Given the description of an element on the screen output the (x, y) to click on. 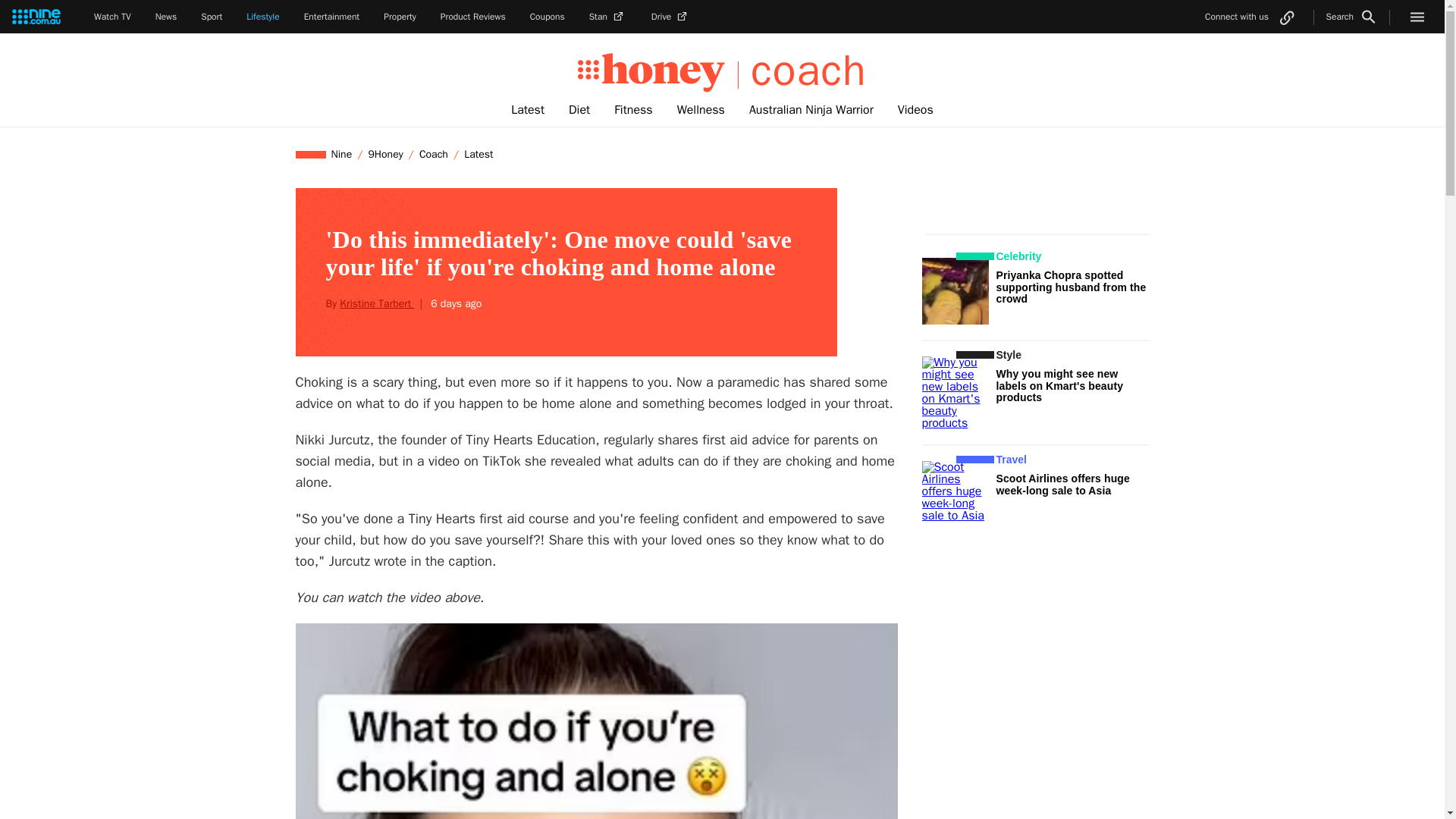
Latest (477, 154)
Entertainment (331, 16)
Product Reviews (473, 16)
Coupons (546, 16)
2023-09-06 01:06 (453, 303)
Fitness (632, 109)
Nine (342, 154)
Drive (670, 16)
Stan (608, 16)
Videos (914, 109)
